Given the description of an element on the screen output the (x, y) to click on. 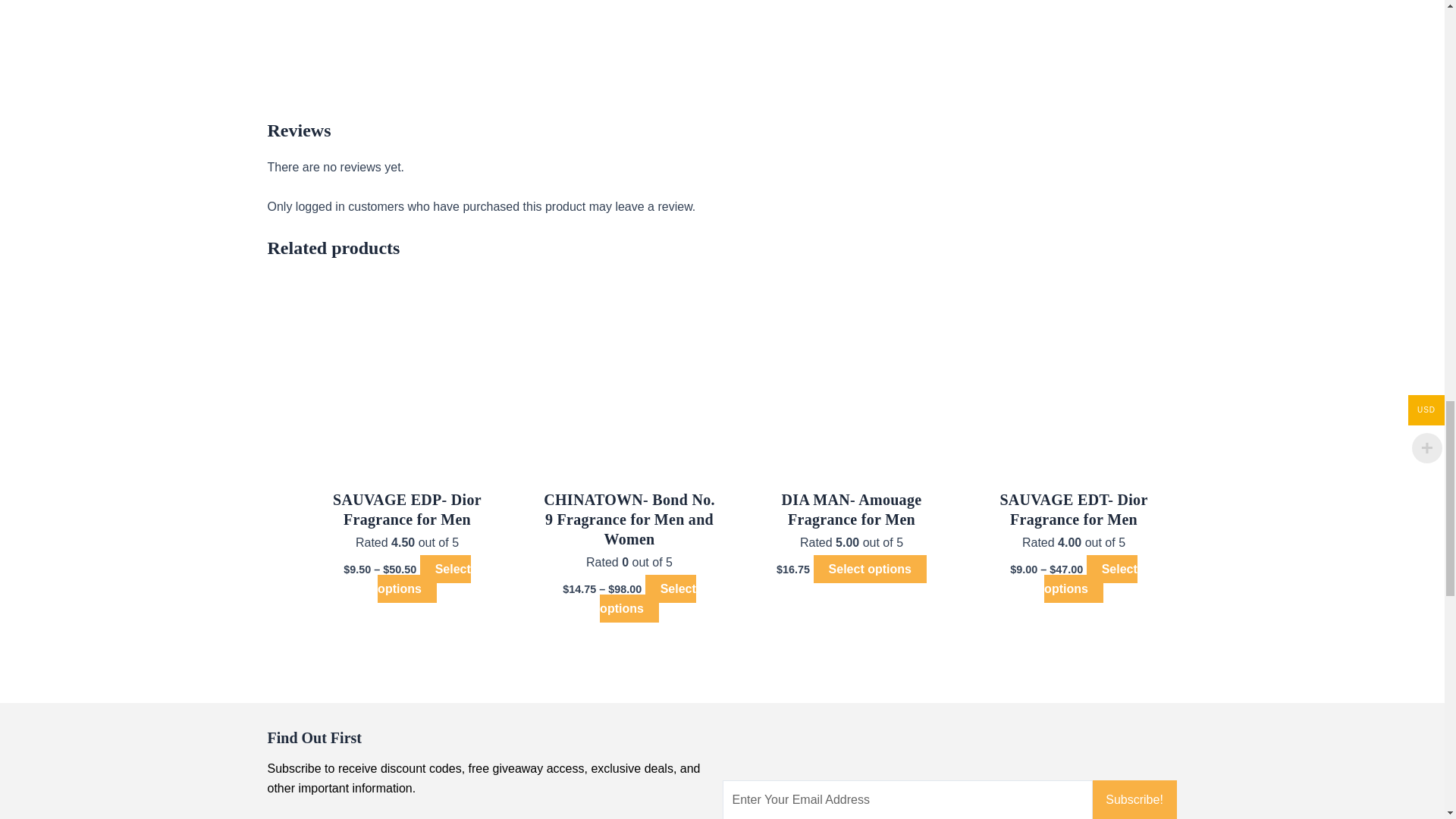
Enter Your Email Address (907, 799)
Subscribe! (1134, 799)
MEMO (380, 68)
